Given the description of an element on the screen output the (x, y) to click on. 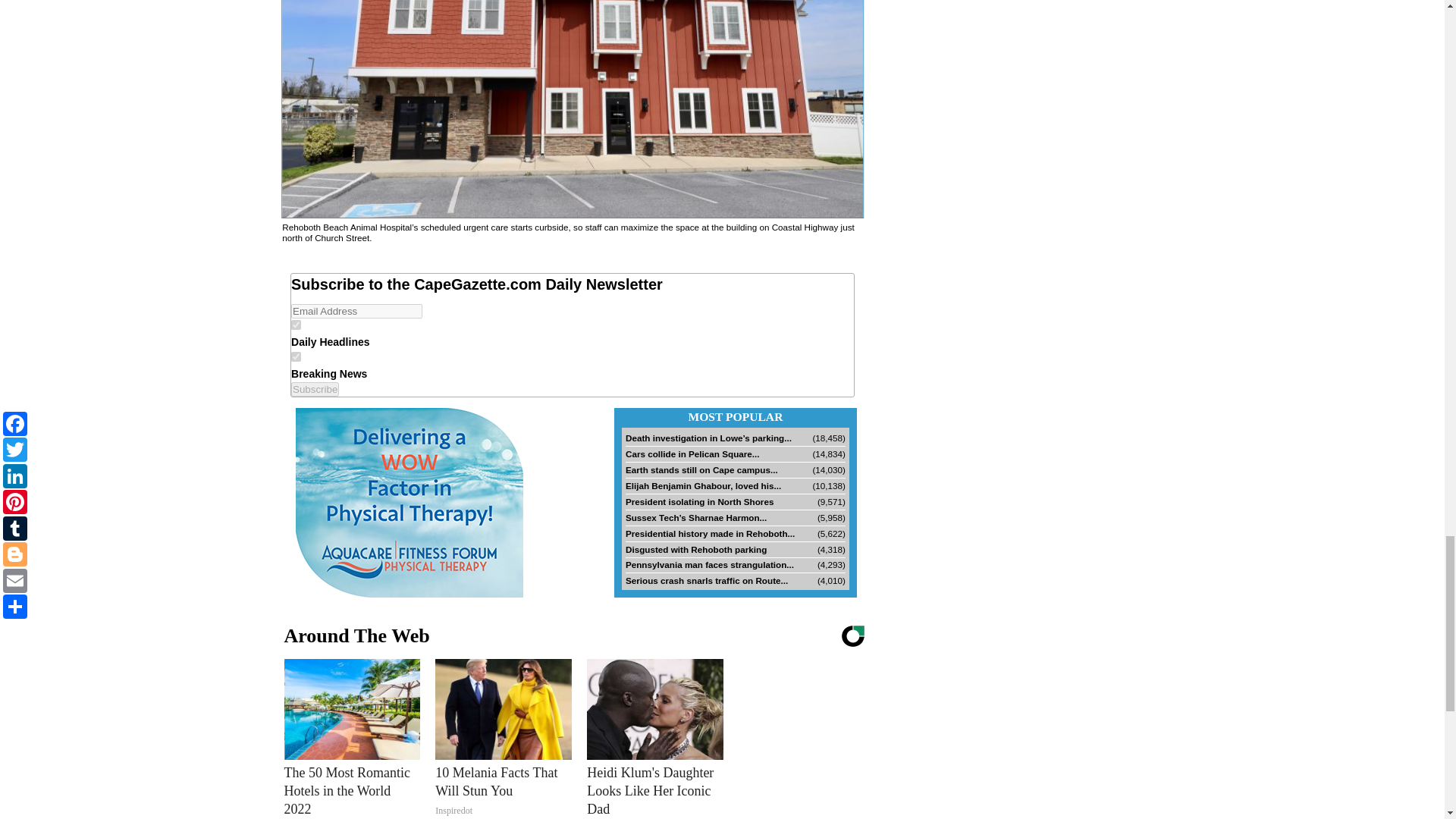
2 (296, 356)
Subscribe (315, 389)
1 (296, 325)
